Given the description of an element on the screen output the (x, y) to click on. 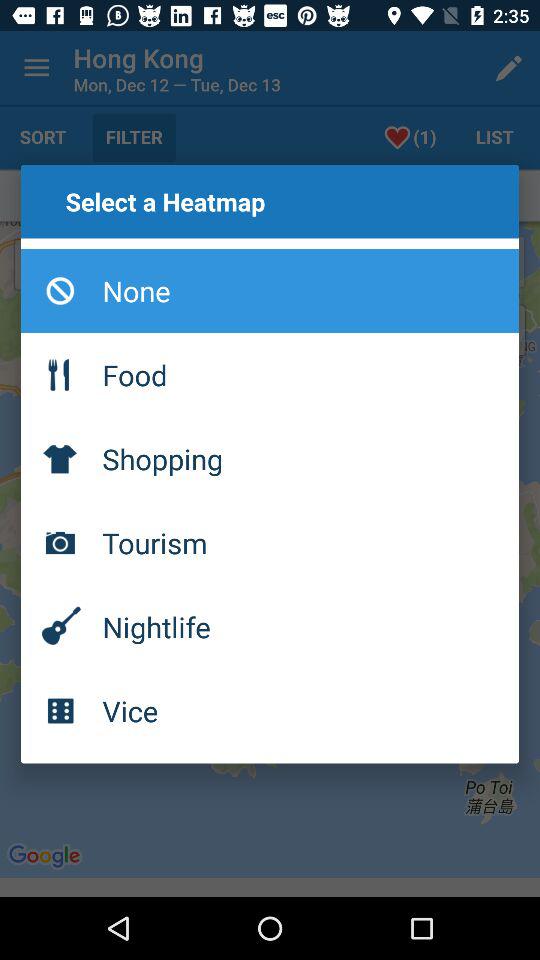
press item above food item (270, 291)
